Given the description of an element on the screen output the (x, y) to click on. 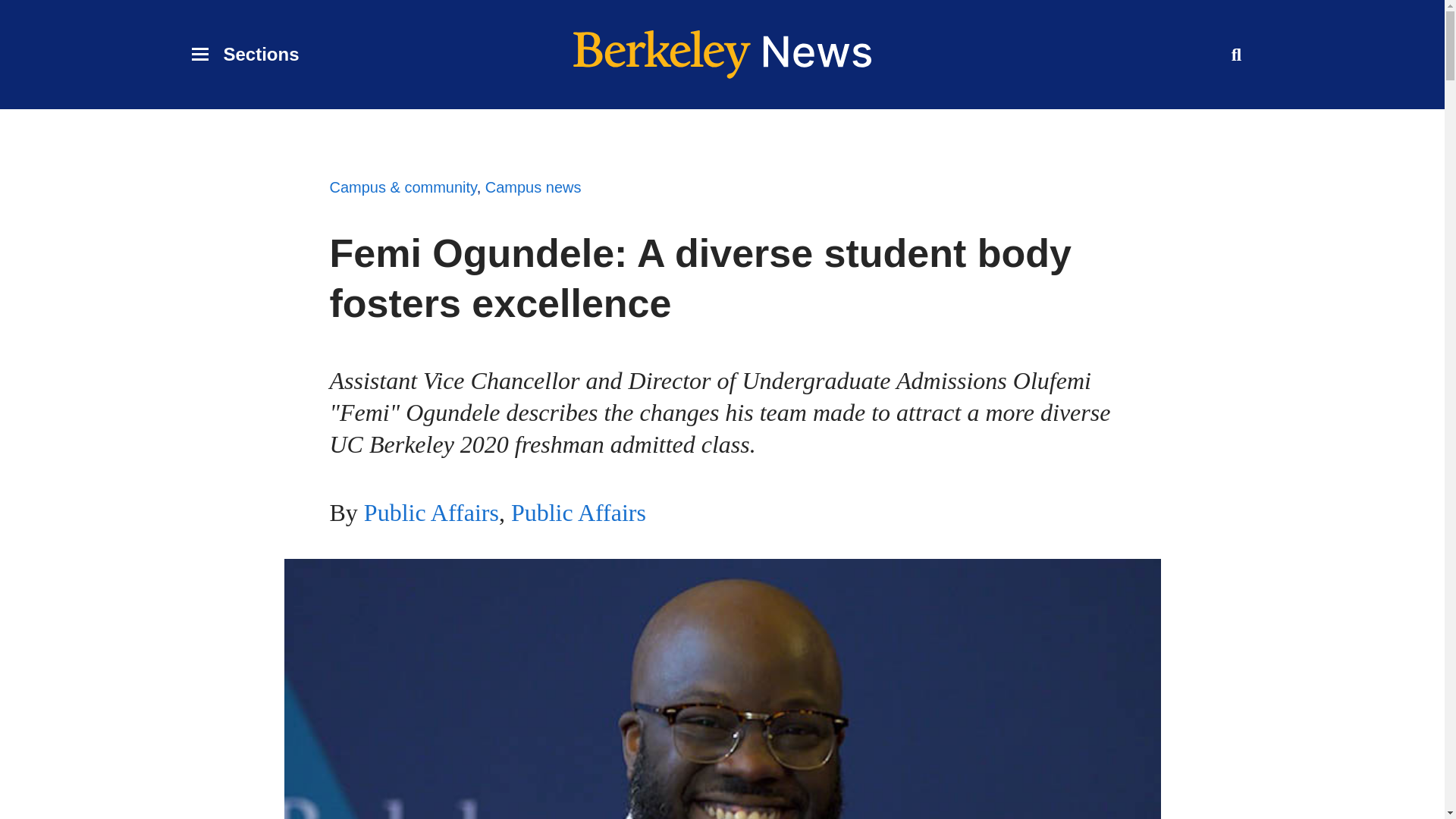
Public Affairs (431, 512)
Public Affairs (578, 512)
Expand Search Form (1236, 54)
Campus news (244, 54)
